Given the description of an element on the screen output the (x, y) to click on. 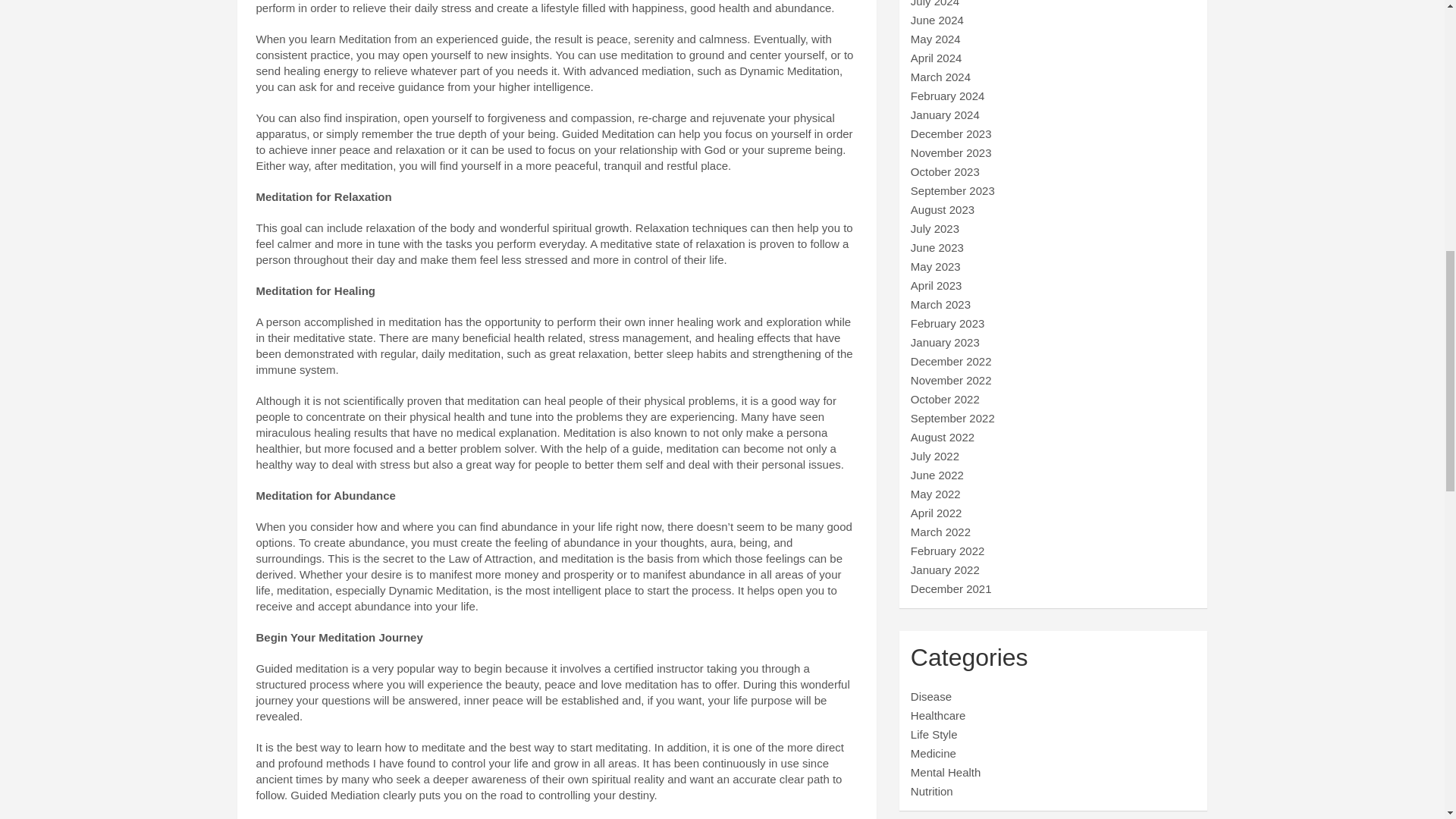
May 2024 (935, 38)
September 2023 (952, 190)
January 2024 (945, 114)
June 2024 (937, 19)
April 2024 (936, 57)
July 2024 (935, 3)
August 2023 (942, 209)
March 2024 (941, 76)
December 2023 (951, 133)
February 2024 (948, 95)
July 2023 (935, 228)
October 2023 (945, 171)
November 2023 (951, 152)
